Given the description of an element on the screen output the (x, y) to click on. 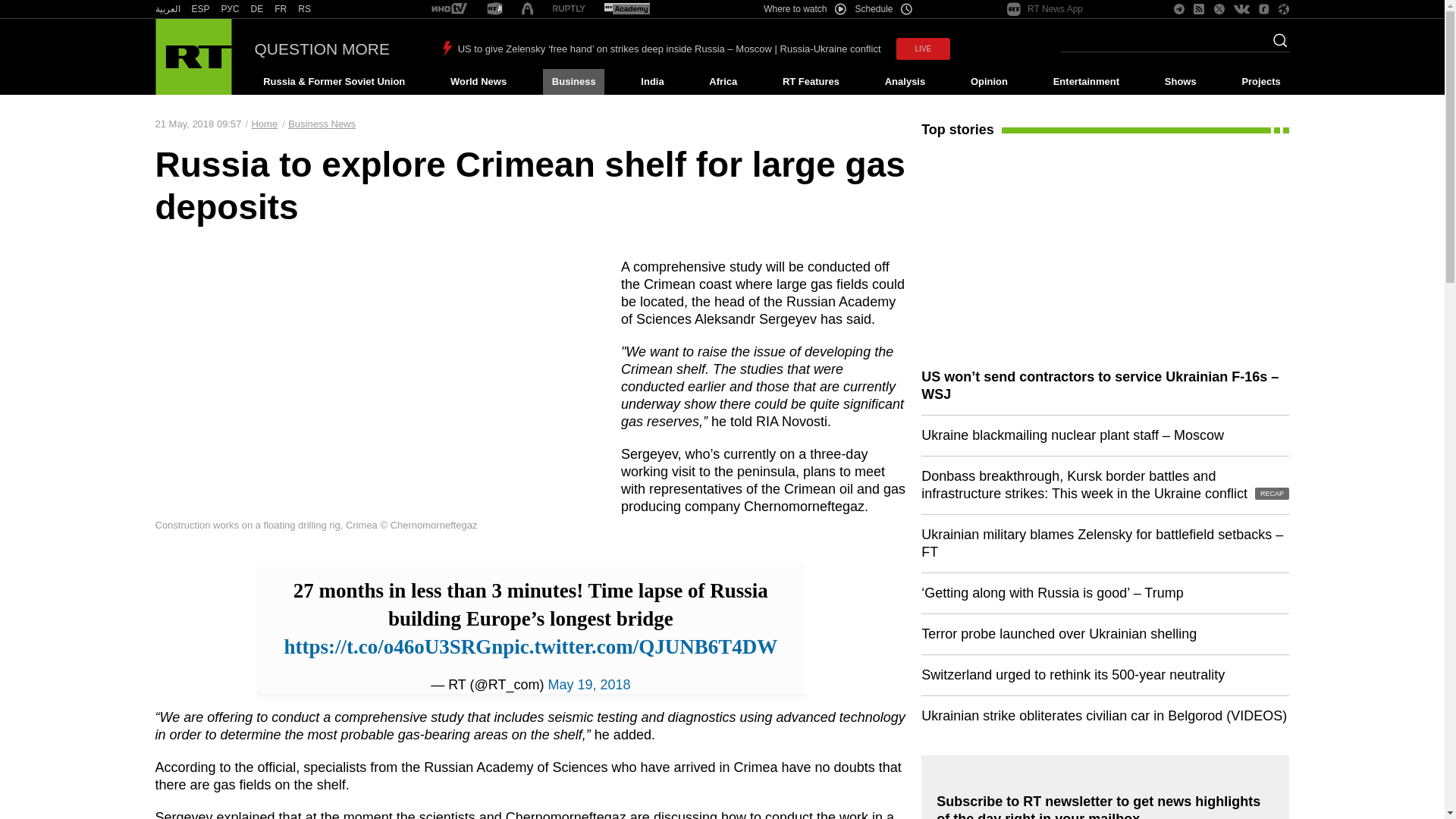
World News (478, 81)
RT  (280, 9)
Analysis (905, 81)
RT  (304, 9)
RT  (494, 9)
Projects (1261, 81)
RT  (569, 8)
FR (280, 9)
Where to watch (803, 9)
RS (304, 9)
